Given the description of an element on the screen output the (x, y) to click on. 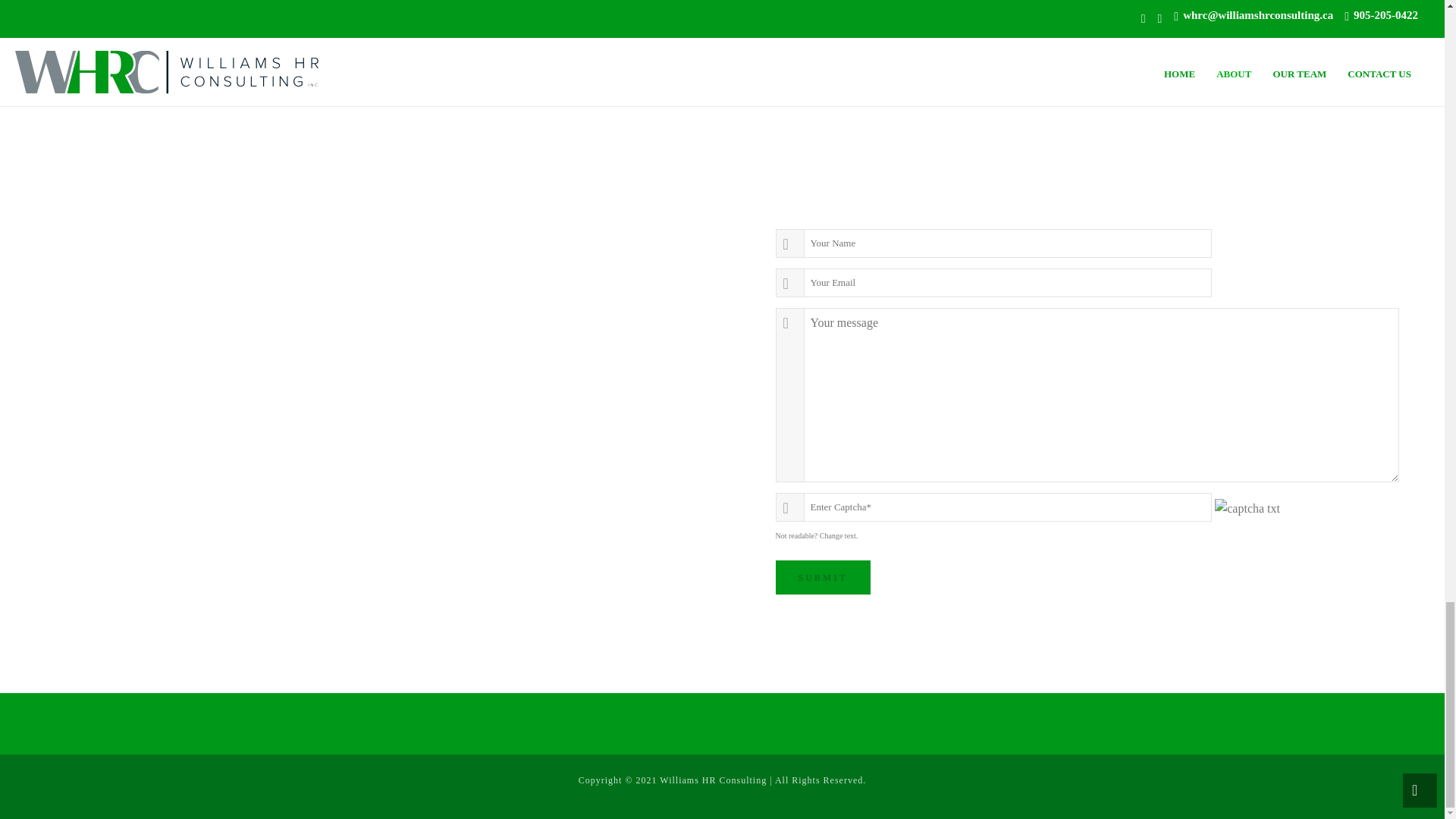
Not readable? Change text. (815, 535)
SUBMIT (821, 577)
